Given the description of an element on the screen output the (x, y) to click on. 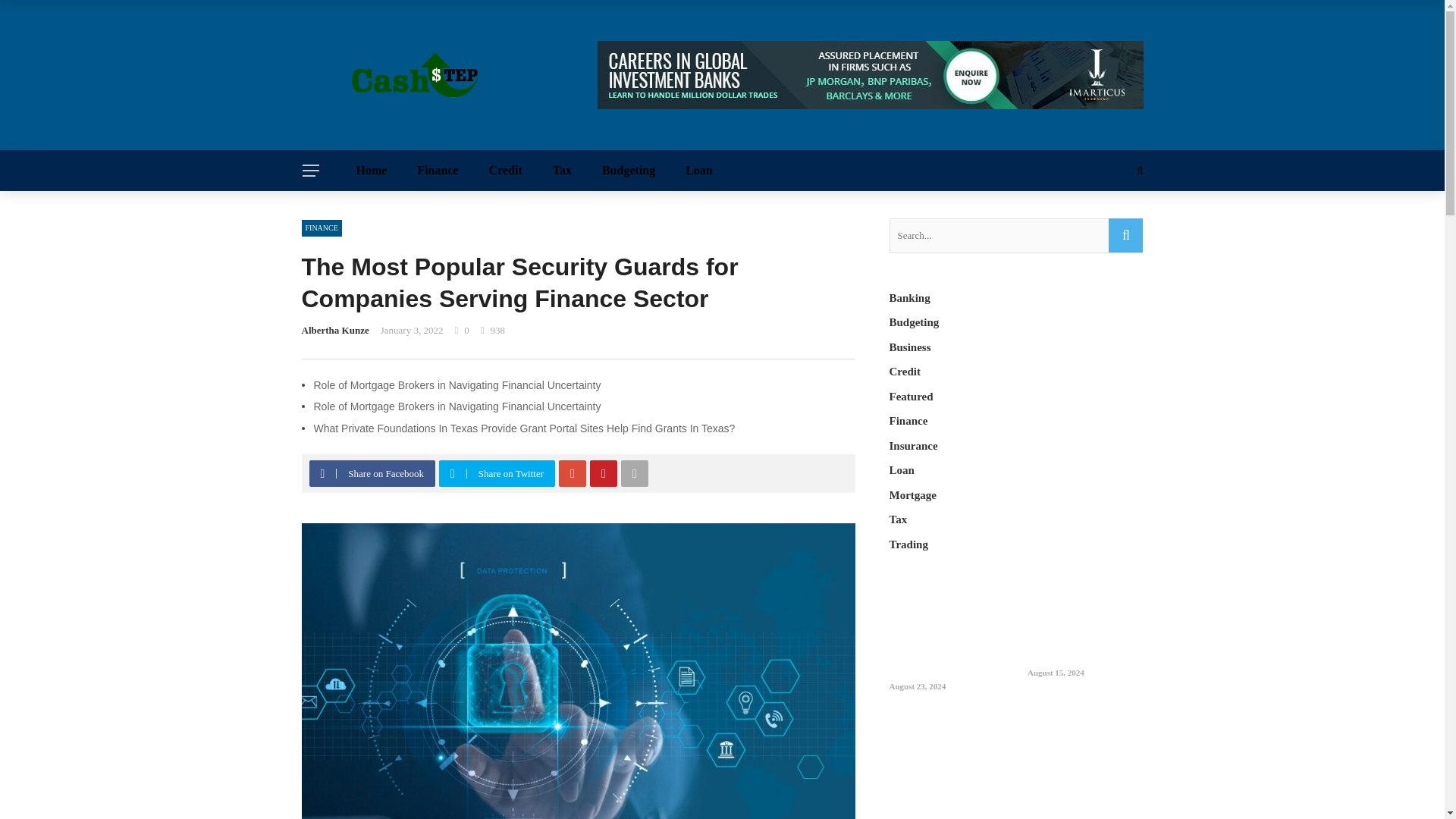
Finance (437, 169)
Credit (505, 169)
Loan (698, 169)
Budgeting (627, 169)
Tax (561, 169)
FINANCE (321, 228)
Home (371, 169)
Albertha Kunze (335, 329)
